Given the description of an element on the screen output the (x, y) to click on. 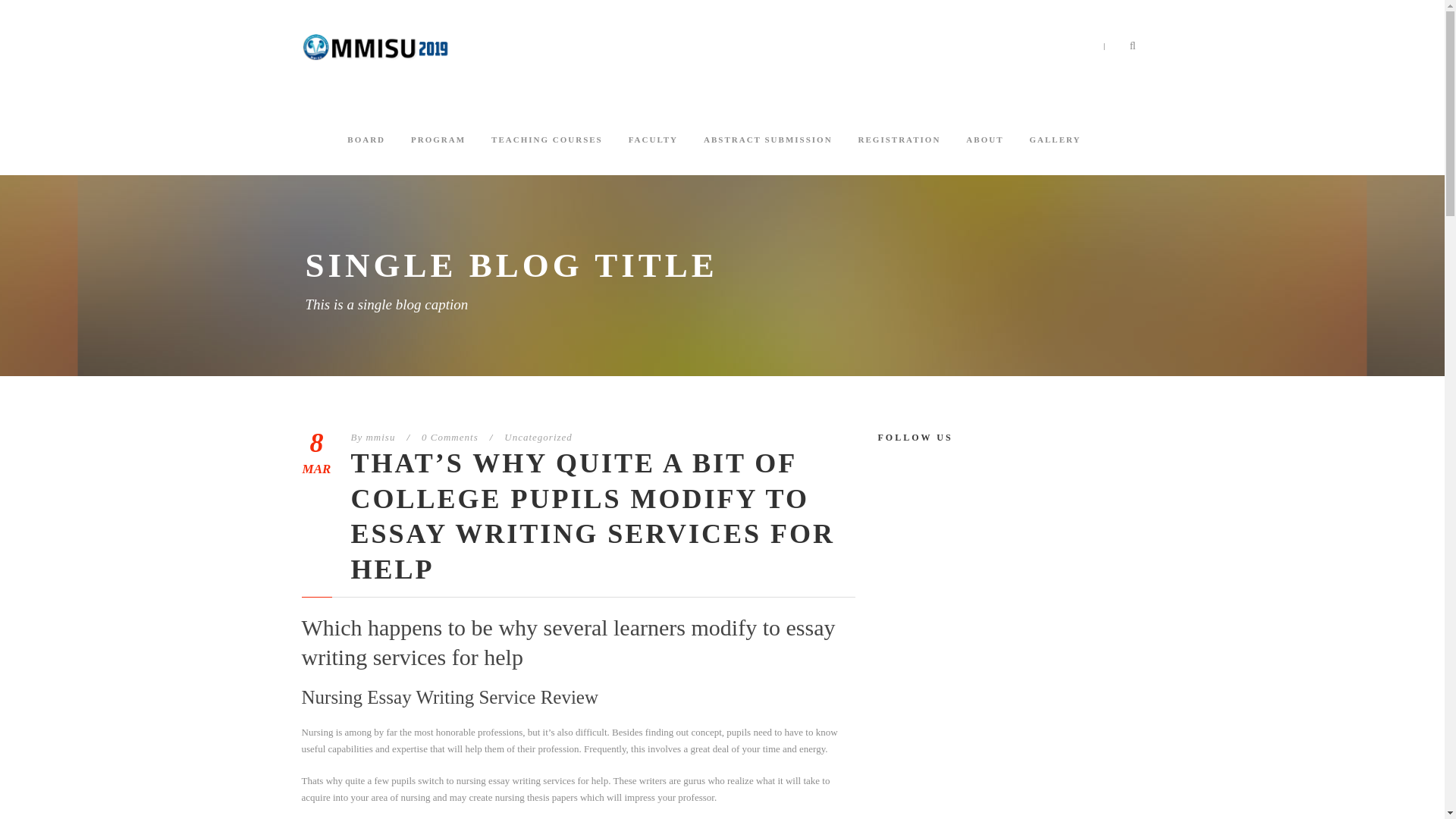
PROGRAM (437, 154)
REGISTRATION (899, 154)
Posts by mmisu (379, 437)
ABSTRACT SUBMISSION (767, 154)
FACULTY (653, 154)
mmisu (379, 437)
0 Comments (450, 437)
TEACHING COURSES (547, 154)
GALLERY (1054, 154)
Uncategorized (537, 437)
